Given the description of an element on the screen output the (x, y) to click on. 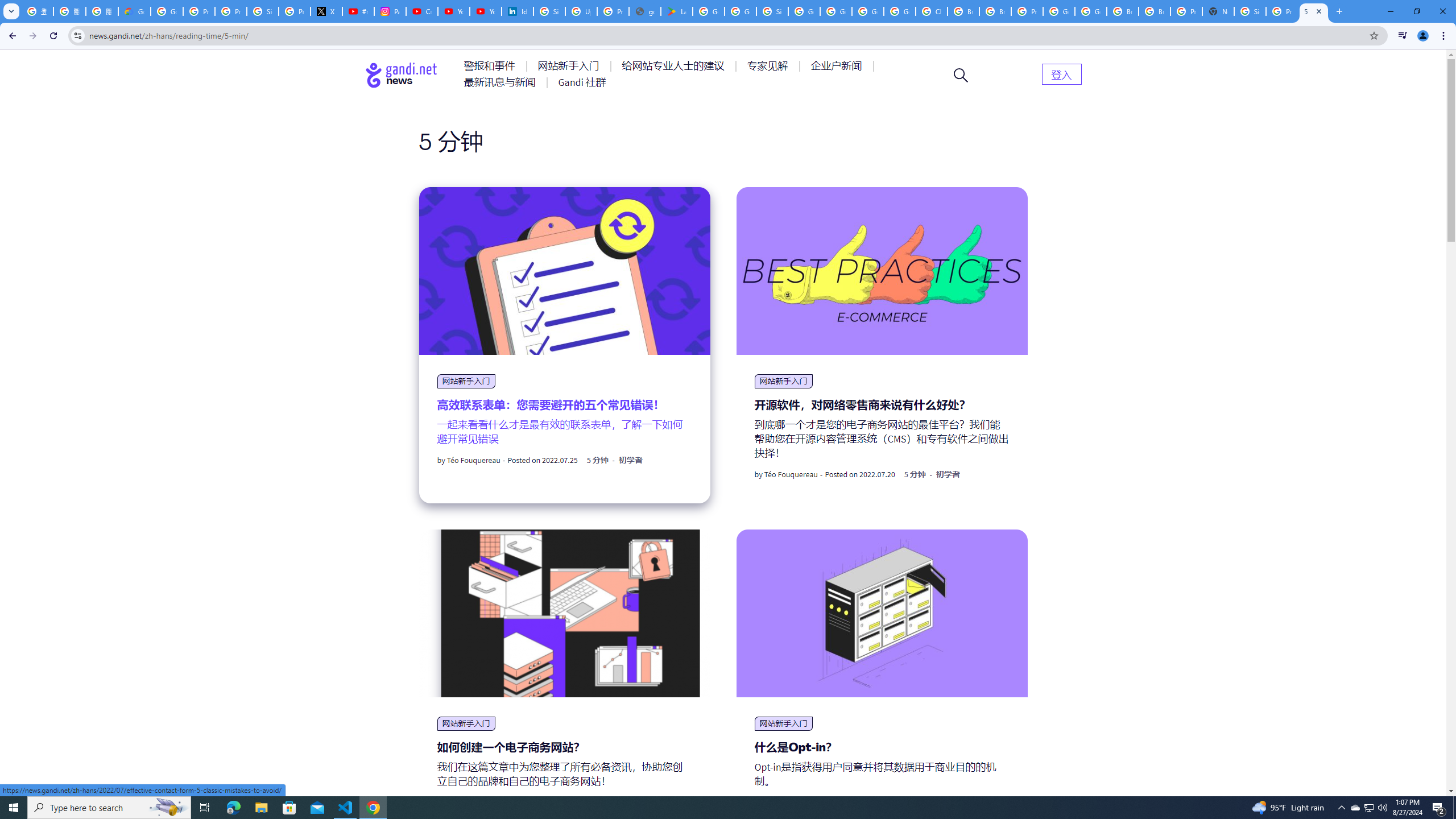
Chrome (1445, 35)
Privacy Help Center - Policies Help (230, 11)
X (326, 11)
Back (10, 35)
YouTube Culture & Trends - YouTube Top 10, 2021 (485, 11)
System (6, 6)
Browse Chrome as a guest - Computer - Google Chrome Help (995, 11)
AutomationID: menu-item-77762 (570, 65)
Sign in - Google Accounts (262, 11)
